Given the description of an element on the screen output the (x, y) to click on. 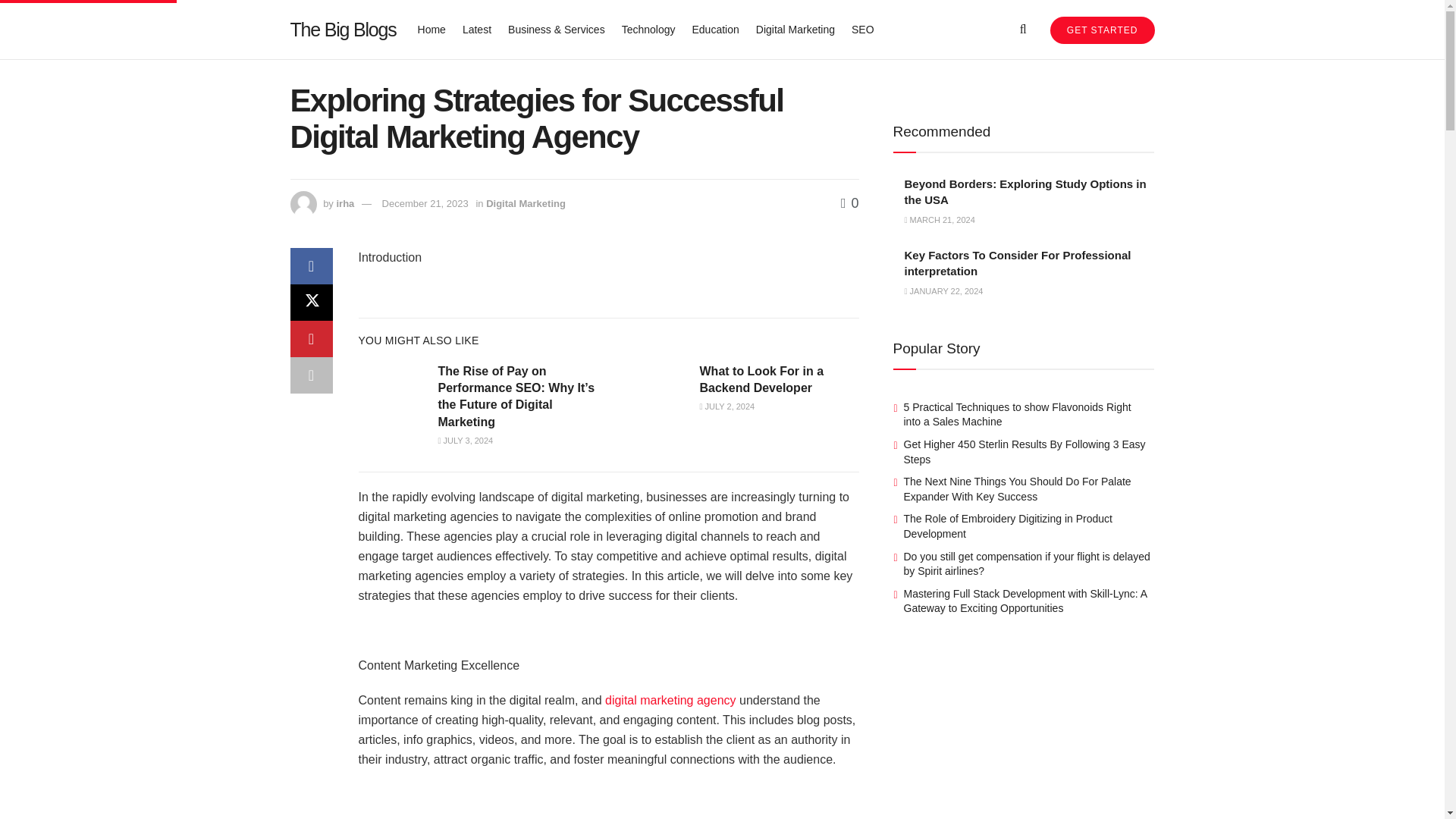
The Big Blogs (342, 28)
SEO (863, 29)
December 21, 2023 (424, 203)
GET STARTED (1101, 30)
Technology (648, 29)
irha (344, 203)
What to Look For in a Backend Developer (761, 378)
Education (714, 29)
Digital Marketing (794, 29)
0 (850, 202)
Digital Marketing (526, 203)
Home (431, 29)
Latest (477, 29)
JULY 3, 2024 (465, 440)
